Given the description of an element on the screen output the (x, y) to click on. 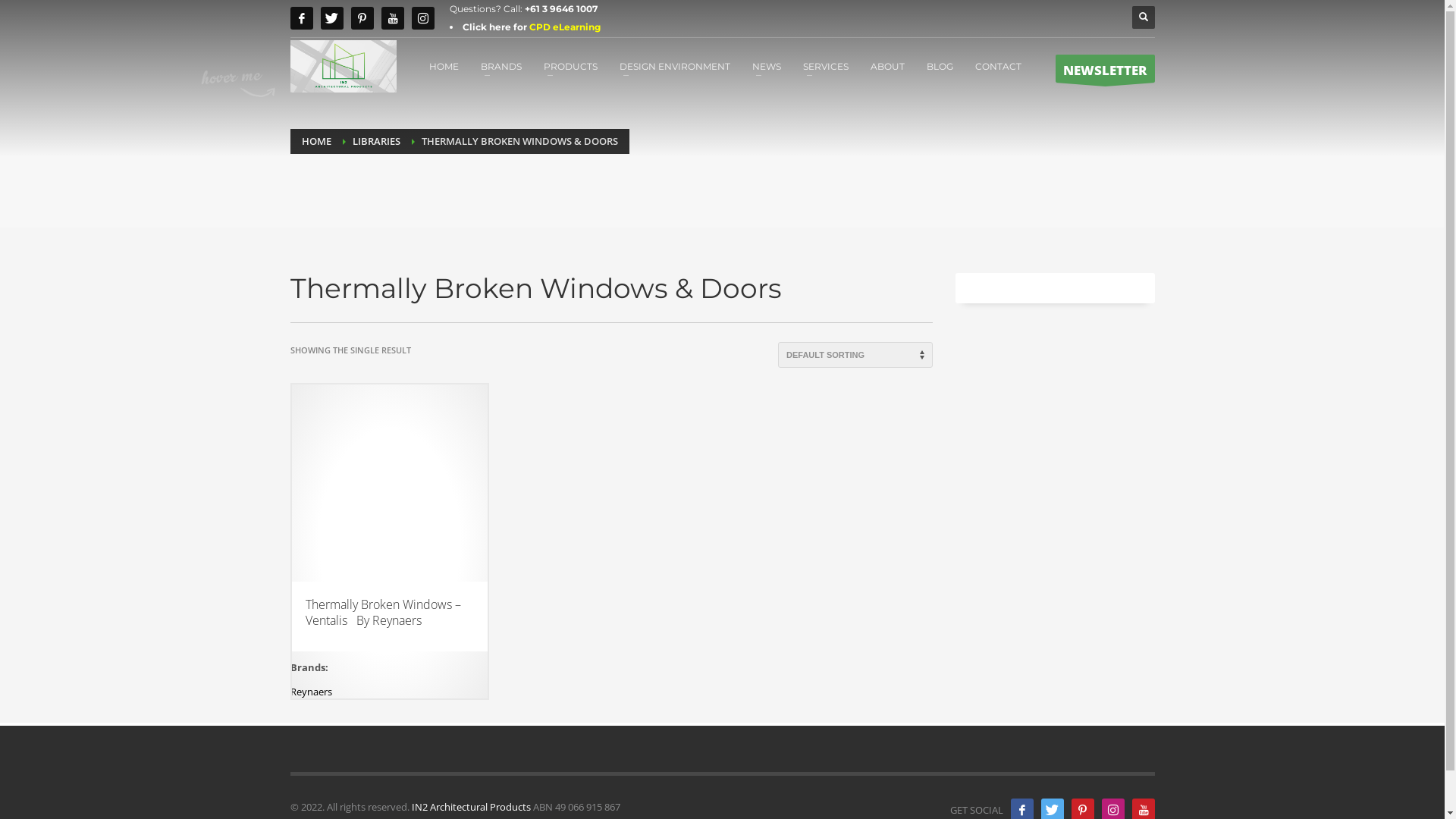
IN2 Architectural Products Element type: text (470, 806)
Twitter Element type: hover (331, 17)
ventalis-1 Element type: hover (388, 481)
DESIGN ENVIRONMENT Element type: text (673, 65)
NEWSLETTER Element type: text (1104, 68)
CPD eLearning Element type: text (564, 26)
Architectural Products Element type: hover (342, 66)
HOME Element type: text (316, 140)
NEWS Element type: text (766, 65)
ABOUT Element type: text (887, 65)
+61 3 9646 1007 Element type: text (560, 8)
BRANDS Element type: text (500, 65)
Youtube Element type: hover (391, 17)
Reynaers Element type: text (310, 691)
SERVICES Element type: text (824, 65)
HOME Element type: text (443, 65)
BLOG Element type: text (939, 65)
Facebook Element type: hover (300, 17)
PRODUCTS Element type: text (569, 65)
CONTACT Element type: text (998, 65)
Instagram Element type: hover (422, 17)
LIBRARIES Element type: text (375, 140)
Pinterest Element type: hover (361, 17)
